Given the description of an element on the screen output the (x, y) to click on. 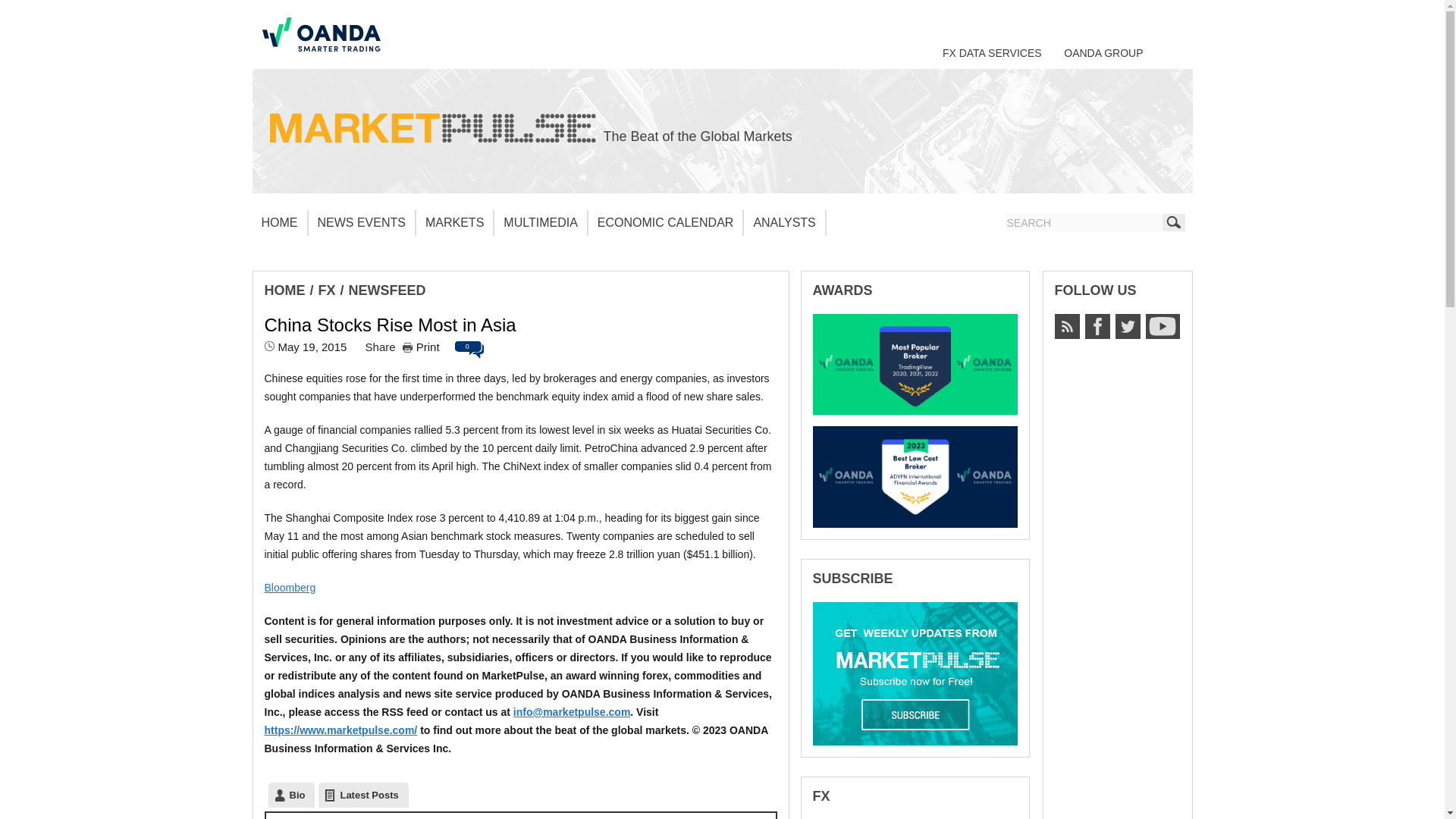
HOME (279, 222)
Print (421, 346)
Find (1173, 221)
Bloomberg (289, 587)
MARKETS (454, 222)
NEWSFEED (387, 290)
Latest Posts (362, 794)
HOME (283, 290)
FX (327, 290)
Youtube (1161, 326)
